Given the description of an element on the screen output the (x, y) to click on. 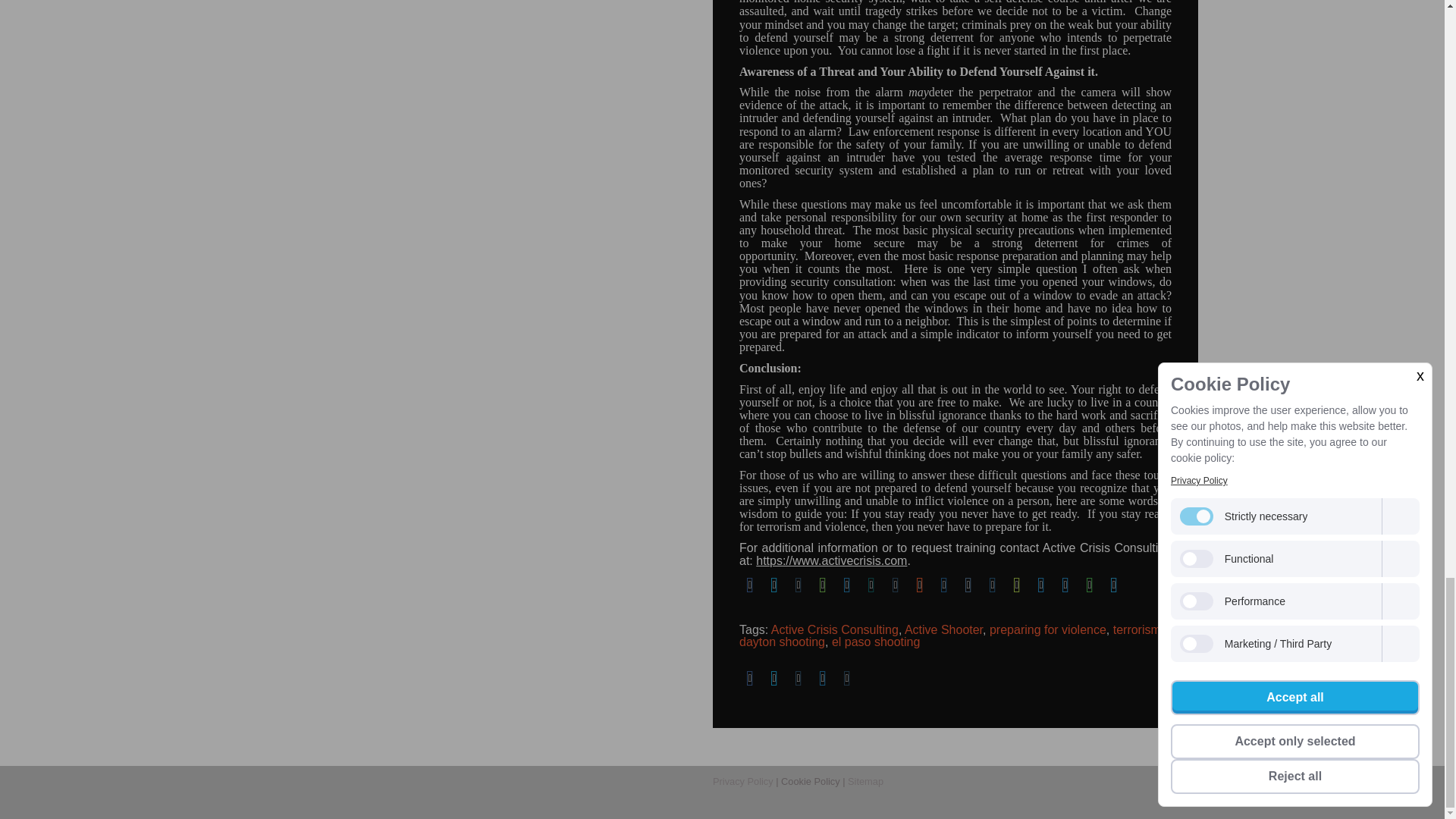
Facebook (749, 678)
LinkedIn (846, 585)
Reddit (919, 585)
Email (798, 678)
Line (1089, 585)
Facebook (749, 585)
Digg (944, 585)
Evernote (822, 585)
Active Crisis Consulting (834, 629)
Xing (871, 585)
